Given the description of an element on the screen output the (x, y) to click on. 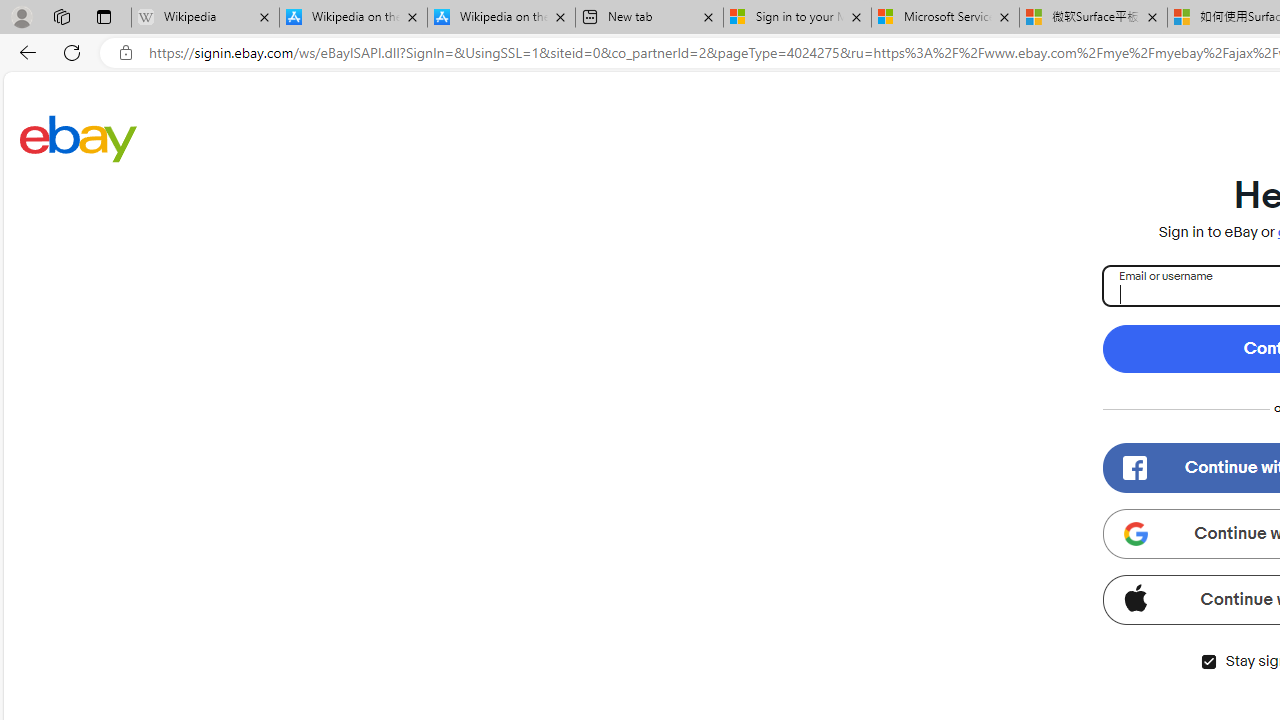
Class: ggl-icon (1135, 533)
eBay Home (78, 138)
Class: apple-icon (1135, 597)
Stay signed in (1208, 661)
Sign in to your Microsoft account (797, 17)
